Given the description of an element on the screen output the (x, y) to click on. 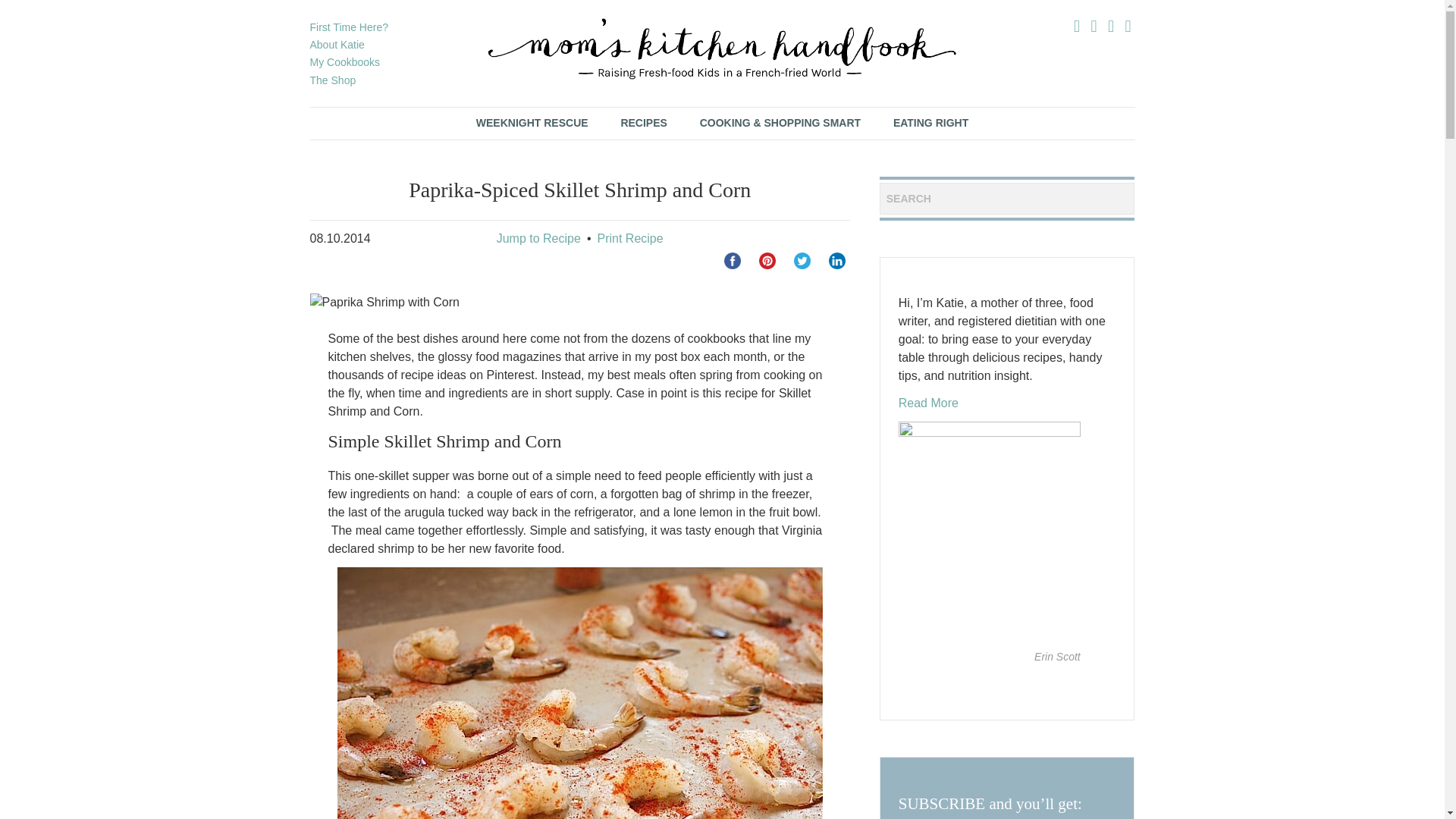
Print Recipe (629, 237)
EATING RIGHT (930, 123)
twitter (802, 260)
facebook (732, 260)
My Cookbooks (344, 61)
WEEKNIGHT RESCUE (532, 123)
RECIPES (643, 123)
Raising Fresh-Food Kids in a French-Fried World (721, 48)
linkedin (837, 260)
About Katie (336, 44)
Jump to Recipe (538, 237)
pinterest (767, 260)
The Shop (331, 80)
First Time Here? (347, 27)
